Given the description of an element on the screen output the (x, y) to click on. 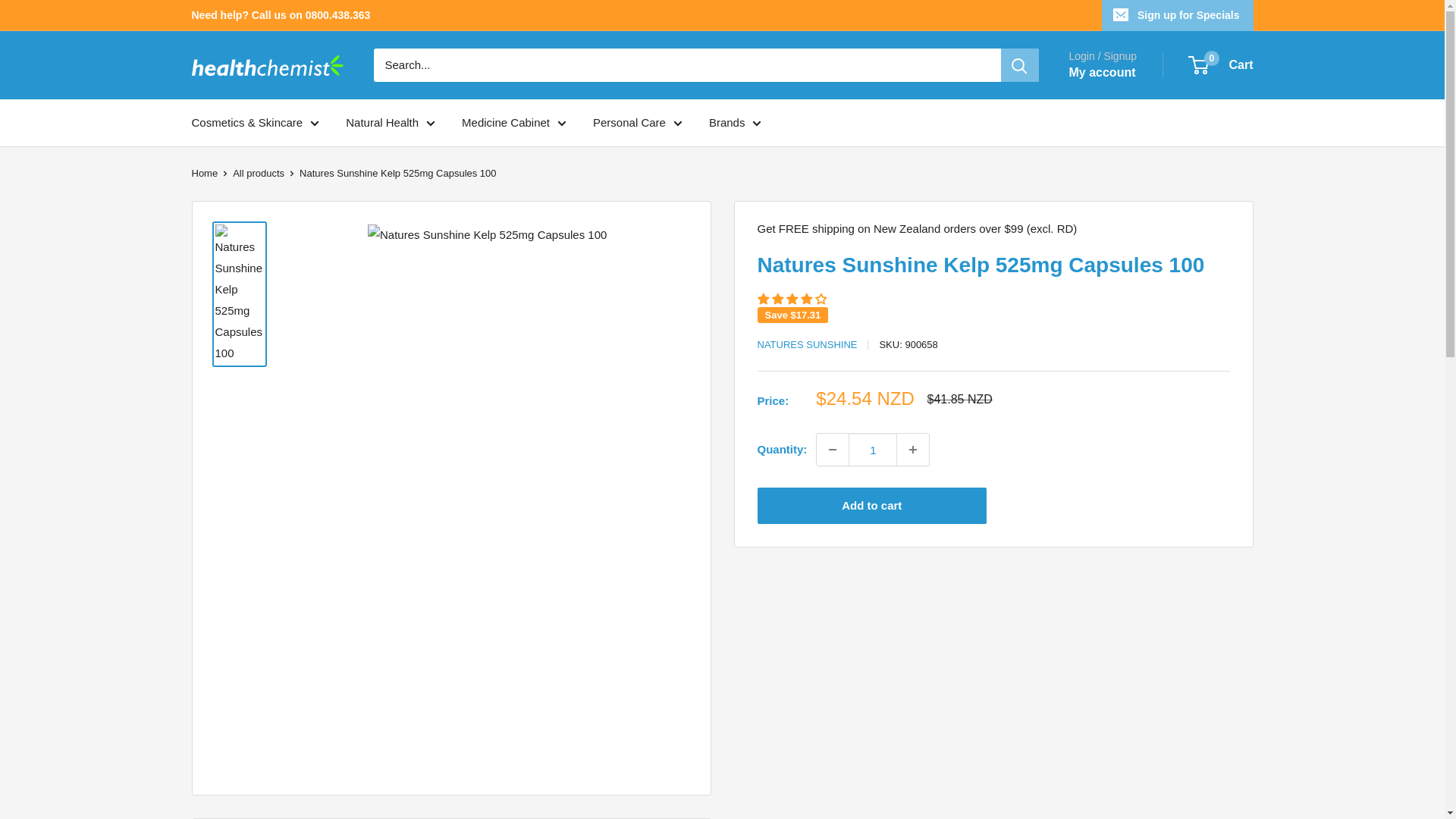
Need help? Call us on 0800.438.363 (279, 15)
Sign up for Specials (1177, 15)
Decrease quantity by 1 (832, 450)
1 (872, 450)
Increase quantity by 1 (912, 450)
